Given the description of an element on the screen output the (x, y) to click on. 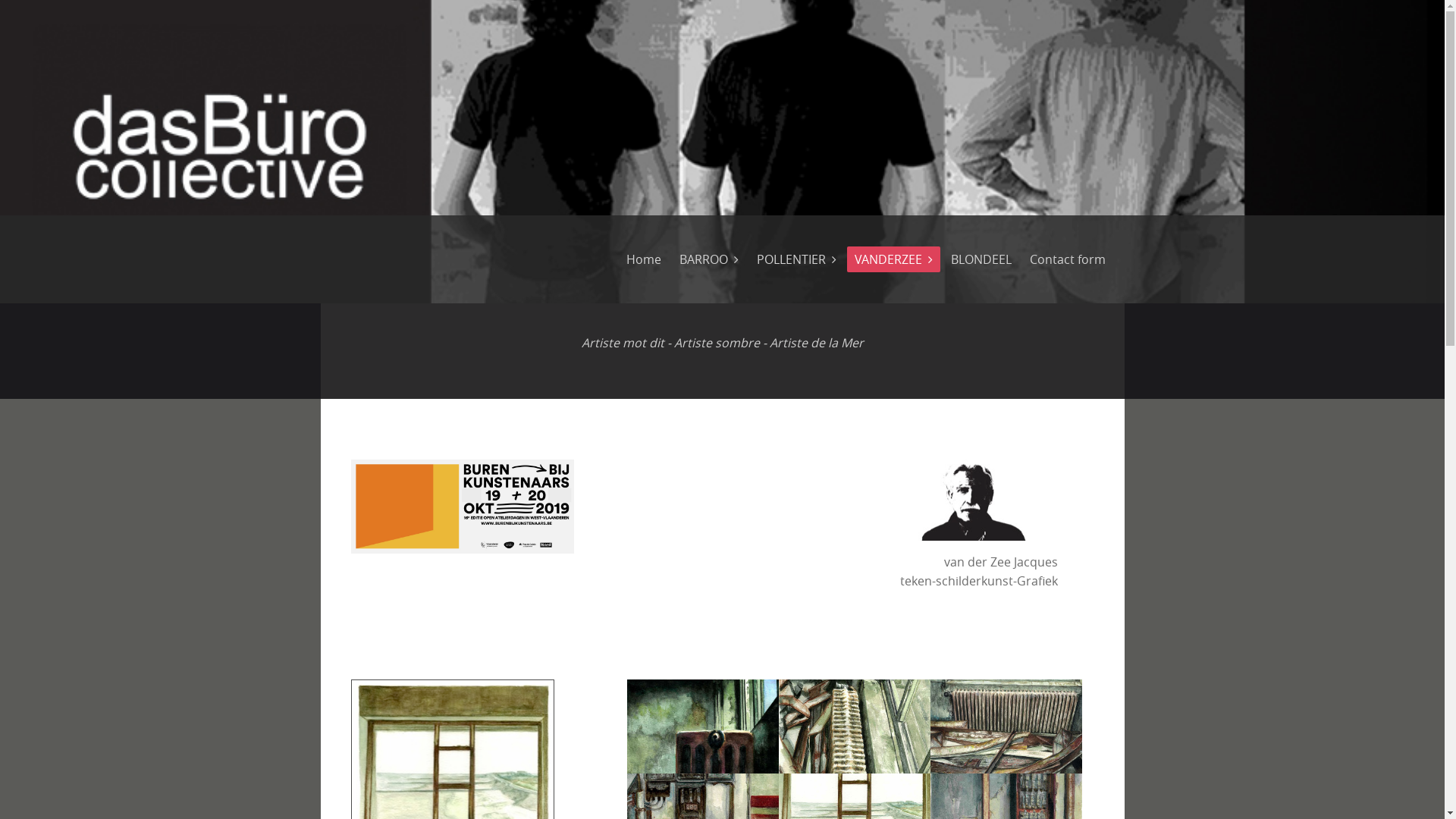
POLLENTIER Element type: text (796, 259)
BLONDEEL Element type: text (981, 259)
BARROO Element type: text (708, 259)
Home Element type: text (643, 259)
Contact form Element type: text (1067, 259)
VANDERZEE Element type: text (892, 259)
